Given the description of an element on the screen output the (x, y) to click on. 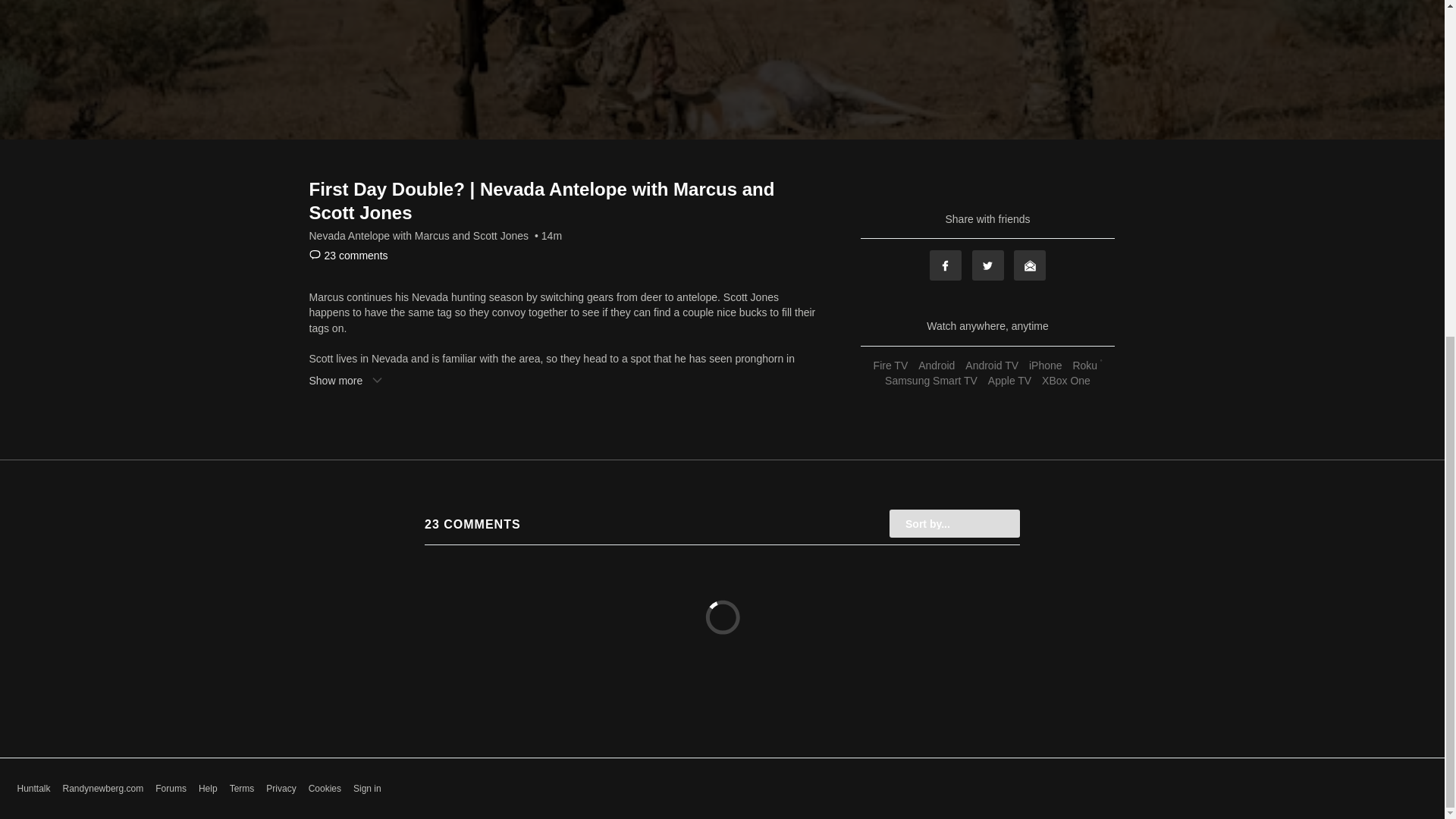
23 comments (348, 255)
Fire TV (890, 365)
iPhone (1045, 365)
XBox One (1066, 380)
Cookies (324, 788)
Samsung Smart TV (930, 380)
Privacy (280, 788)
Apple TV (1009, 380)
Nevada Antelope with Marcus and Scott Jones (418, 235)
Sign in (367, 788)
Terms (242, 788)
Randynewberg.com (103, 788)
Forums (170, 788)
View Latest Comments (348, 255)
Android (936, 365)
